Given the description of an element on the screen output the (x, y) to click on. 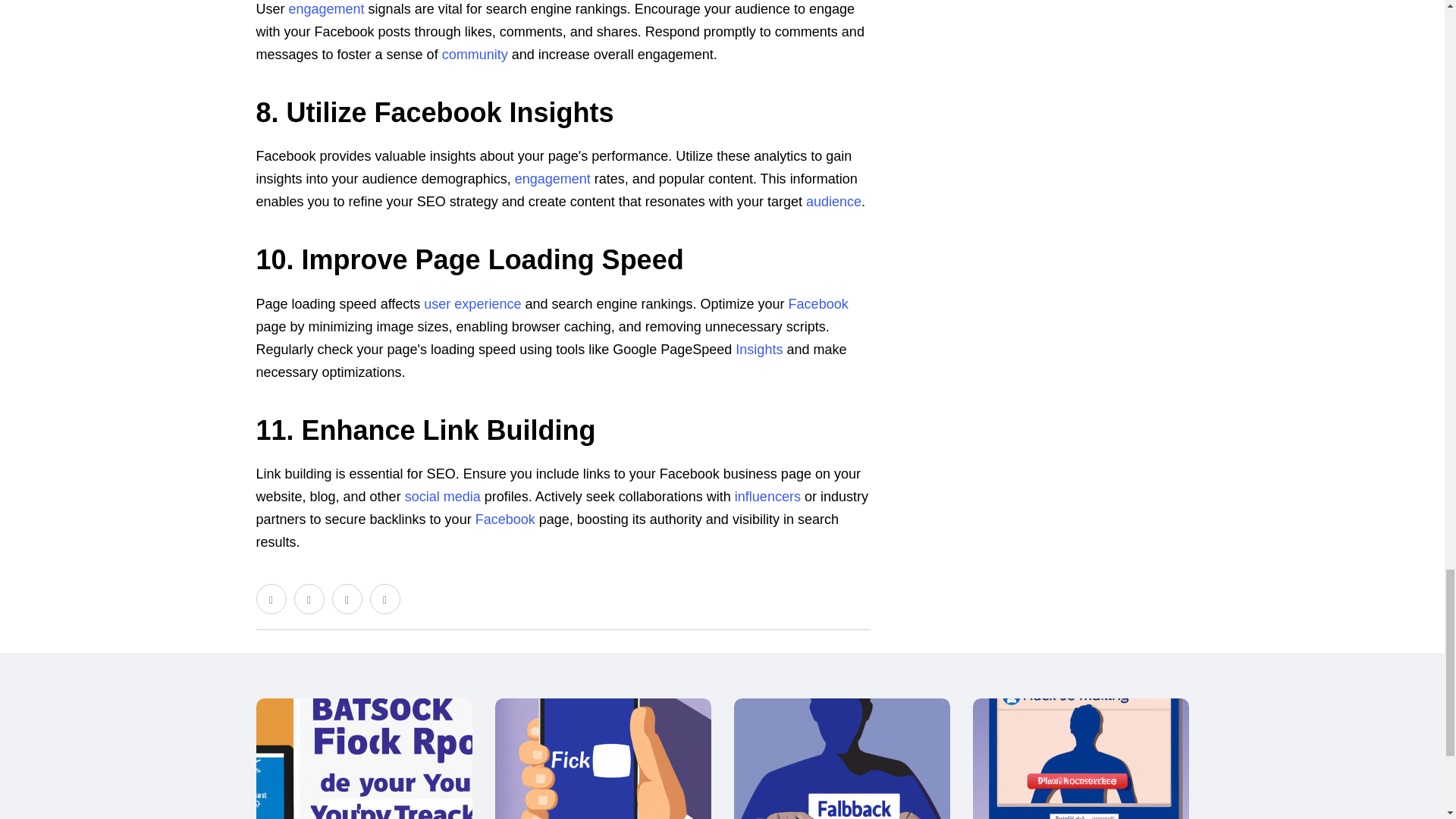
audience (833, 201)
engagement (553, 178)
engagement (326, 8)
community (475, 54)
